Given the description of an element on the screen output the (x, y) to click on. 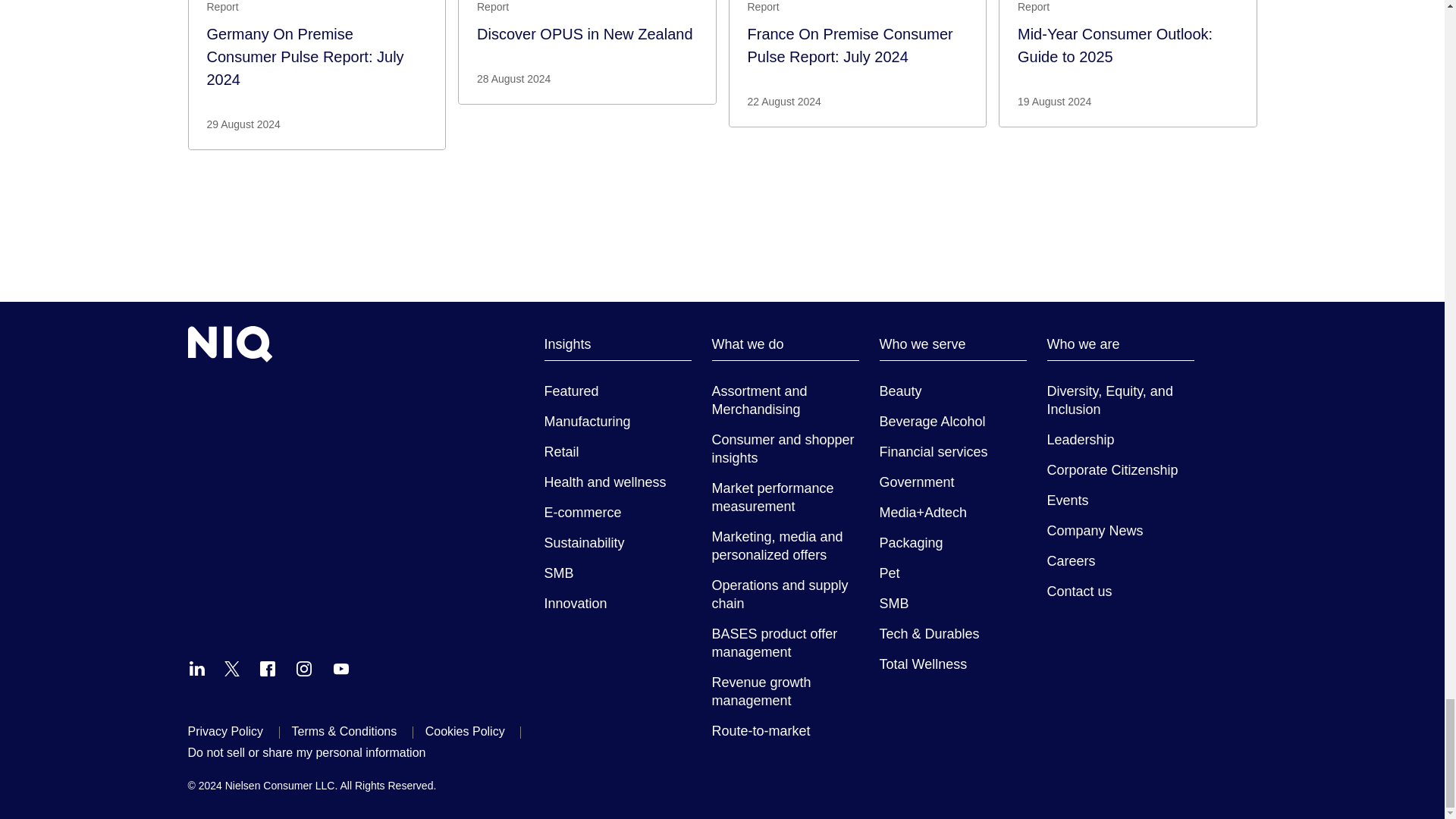
Linkedin (196, 669)
YouTube (340, 669)
Instagram (304, 669)
Facebook (266, 669)
